Given the description of an element on the screen output the (x, y) to click on. 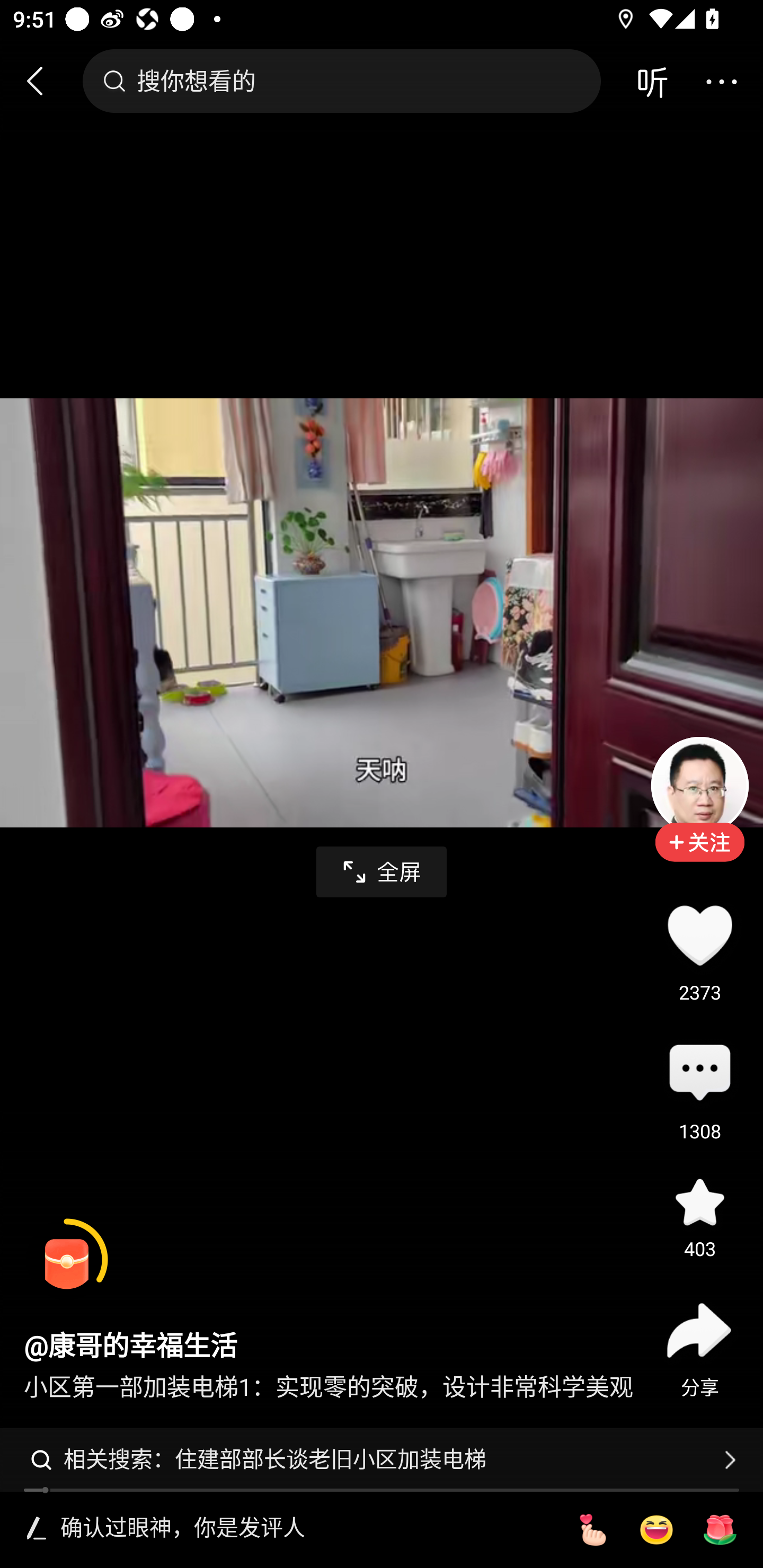
搜你想看的 搜索框，搜你想看的 (341, 80)
返回 (43, 80)
音频 (651, 80)
更多操作 (720, 80)
头像 (699, 785)
加关注 (699, 855)
全屏播放 (381, 871)
点赞2373 2373 (699, 935)
评论1308 评论 1308 (699, 1074)
收藏 403 (699, 1201)
阅读赚金币 (66, 1259)
分享 (699, 1330)
@康哥的幸福生活 (130, 1346)
相关搜索：住建部部长谈老旧小区加装电梯 (381, 1459)
确认过眼神，你是发评人 (305, 1529)
[比心] (592, 1530)
[大笑] (656, 1530)
[玫瑰] (719, 1530)
